Given the description of an element on the screen output the (x, y) to click on. 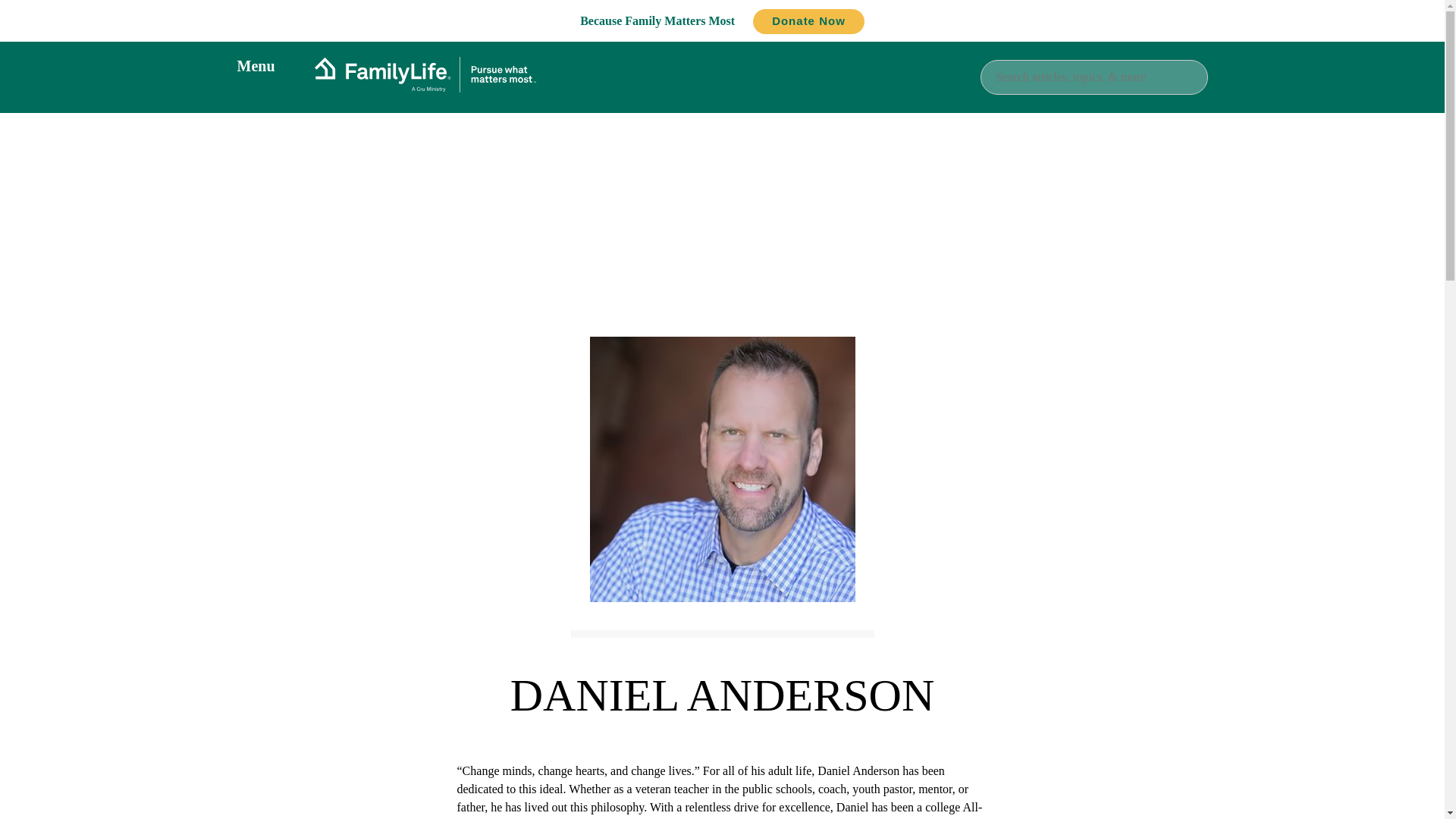
Search for: (1093, 76)
Because Family Matters Most Donate Now (721, 20)
Donate Now (808, 21)
